Given the description of an element on the screen output the (x, y) to click on. 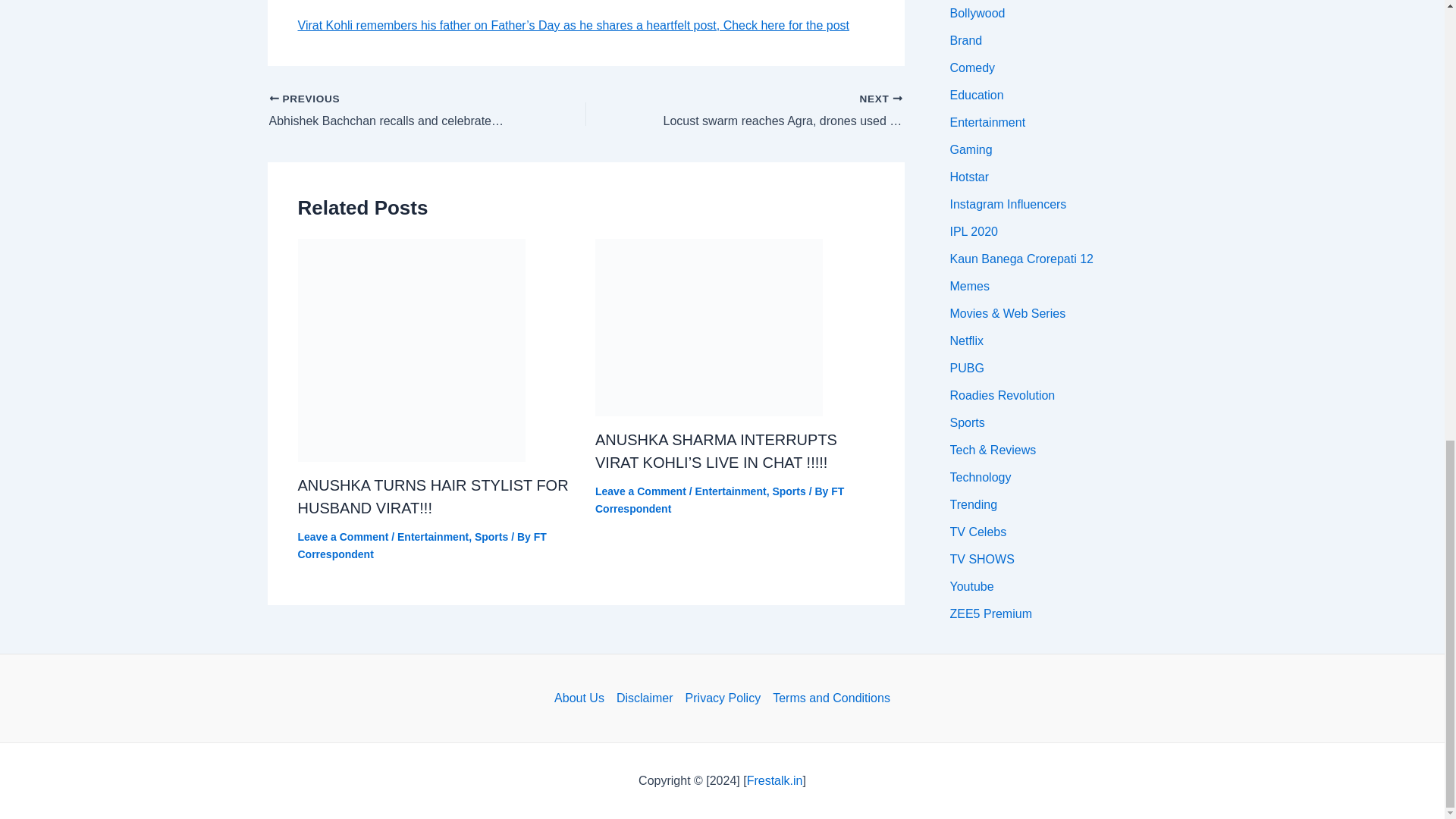
Entertainment (432, 536)
View all posts by FT Correspondent (421, 544)
Sports (491, 536)
Leave a Comment (342, 536)
FT Correspondent (421, 544)
View all posts by FT Correspondent (719, 499)
ANUSHKA TURNS HAIR STYLIST FOR HUSBAND VIRAT!!! (432, 496)
Locust swarm reaches Agra, drones used to spray insecticides (774, 111)
